Given the description of an element on the screen output the (x, y) to click on. 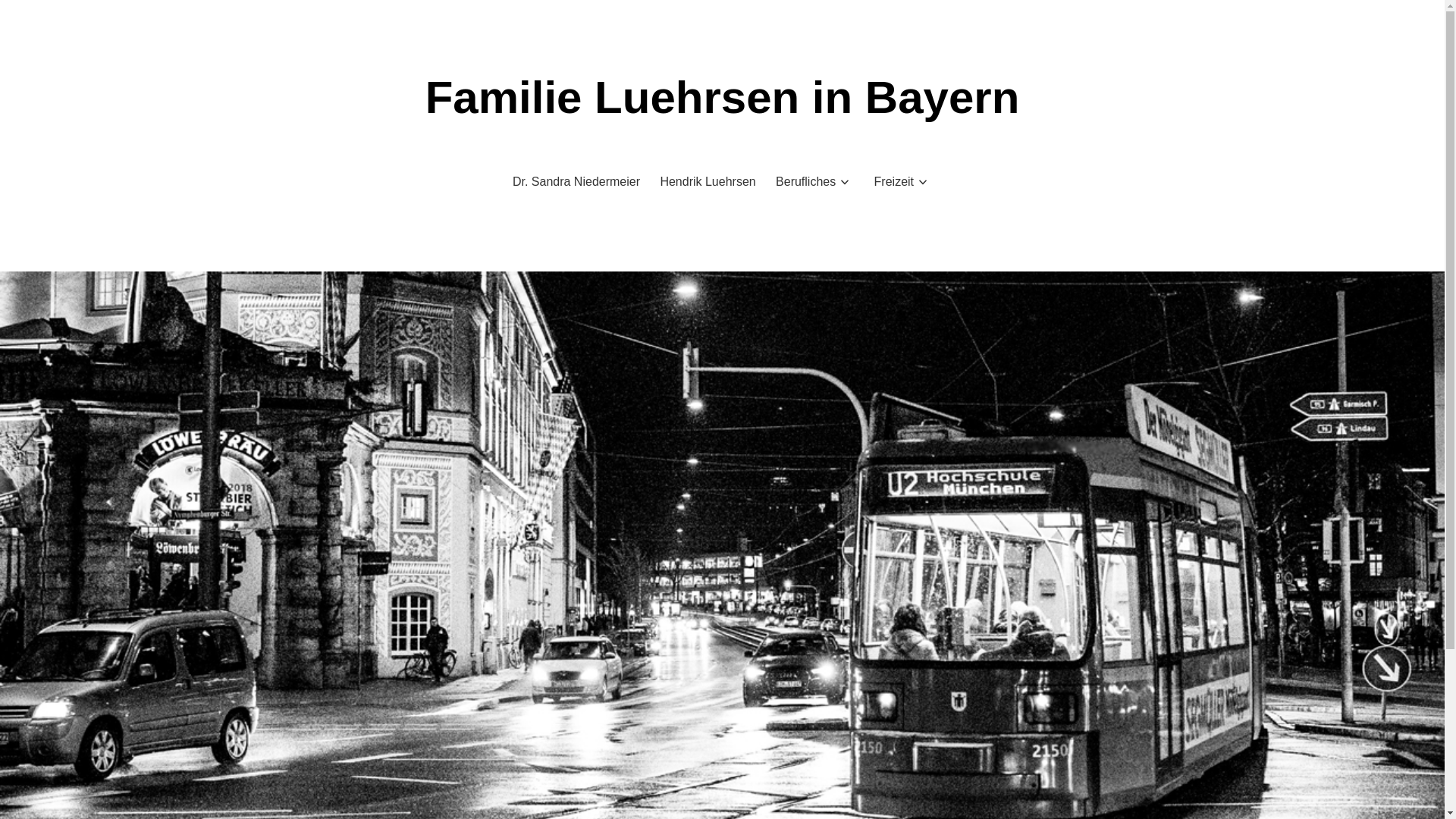
Dr. Sandra Niedermeier Element type: text (576, 181)
Hendrik Luehrsen Element type: text (707, 181)
Familie Luehrsen in Bayern Element type: text (722, 97)
Freizeit Element type: text (893, 181)
Berufliches Element type: text (805, 181)
